Given the description of an element on the screen output the (x, y) to click on. 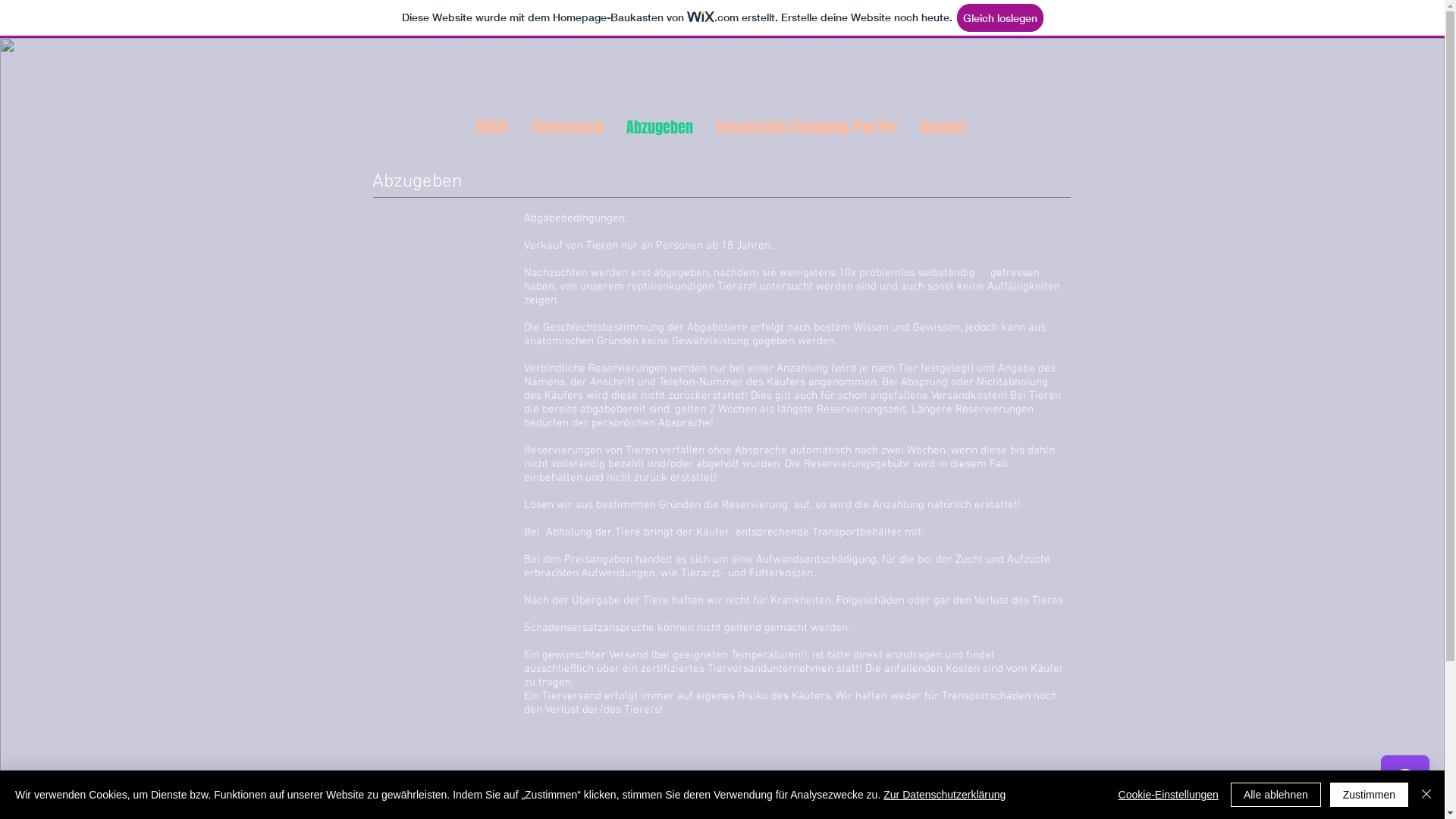
Tierbestand Element type: text (566, 127)
Einsatzhilfe/Schulung Ffw/Pol Element type: text (805, 127)
Abzugeben Element type: text (658, 127)
HOME Element type: text (491, 127)
Zustimmen Element type: text (1369, 794)
Kontakt Element type: text (942, 127)
Alle ablehnen Element type: text (1275, 794)
